Given the description of an element on the screen output the (x, y) to click on. 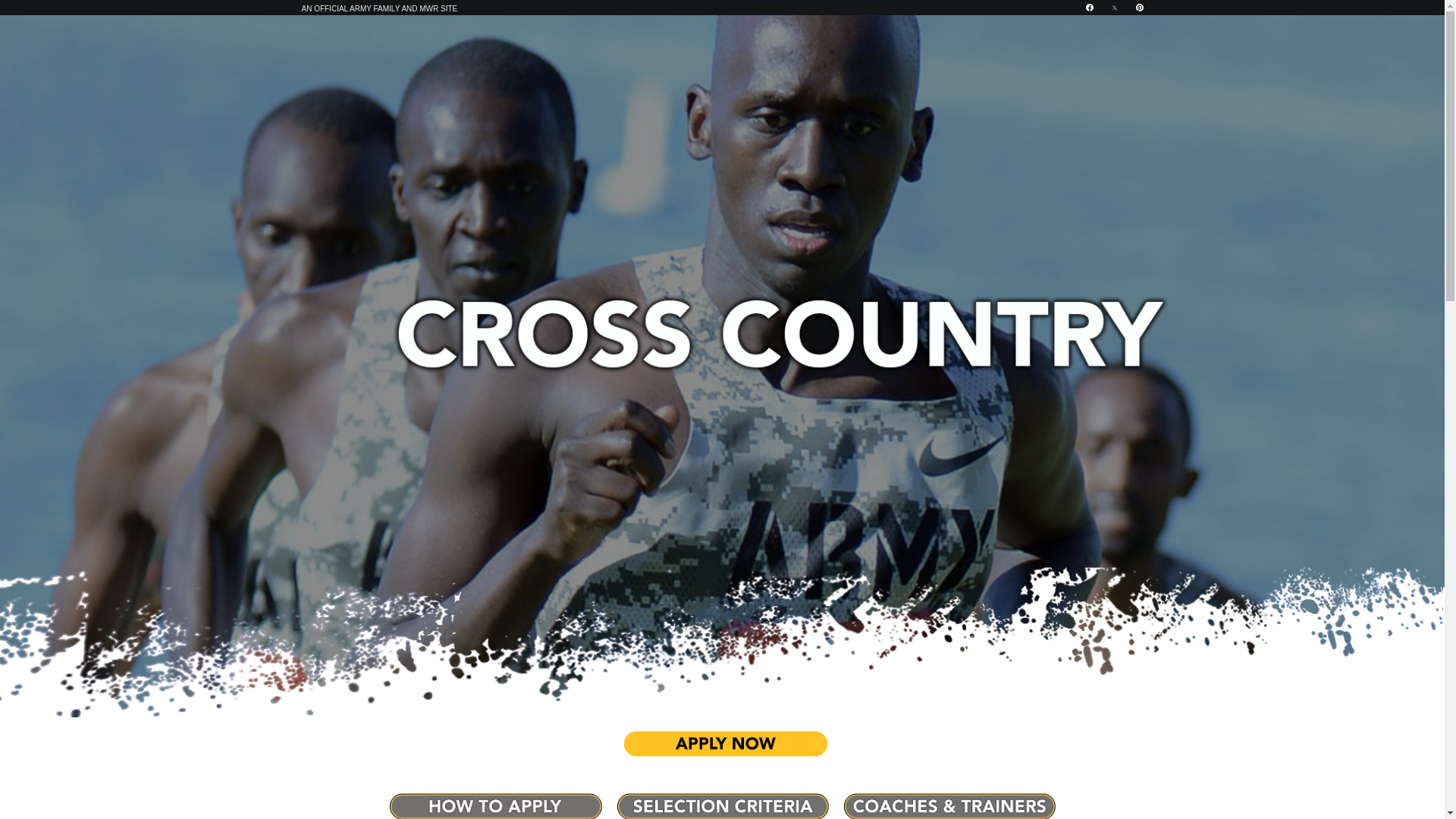
X (1114, 7)
FACEBOOK (1089, 7)
PINTEREST (1138, 7)
